Given the description of an element on the screen output the (x, y) to click on. 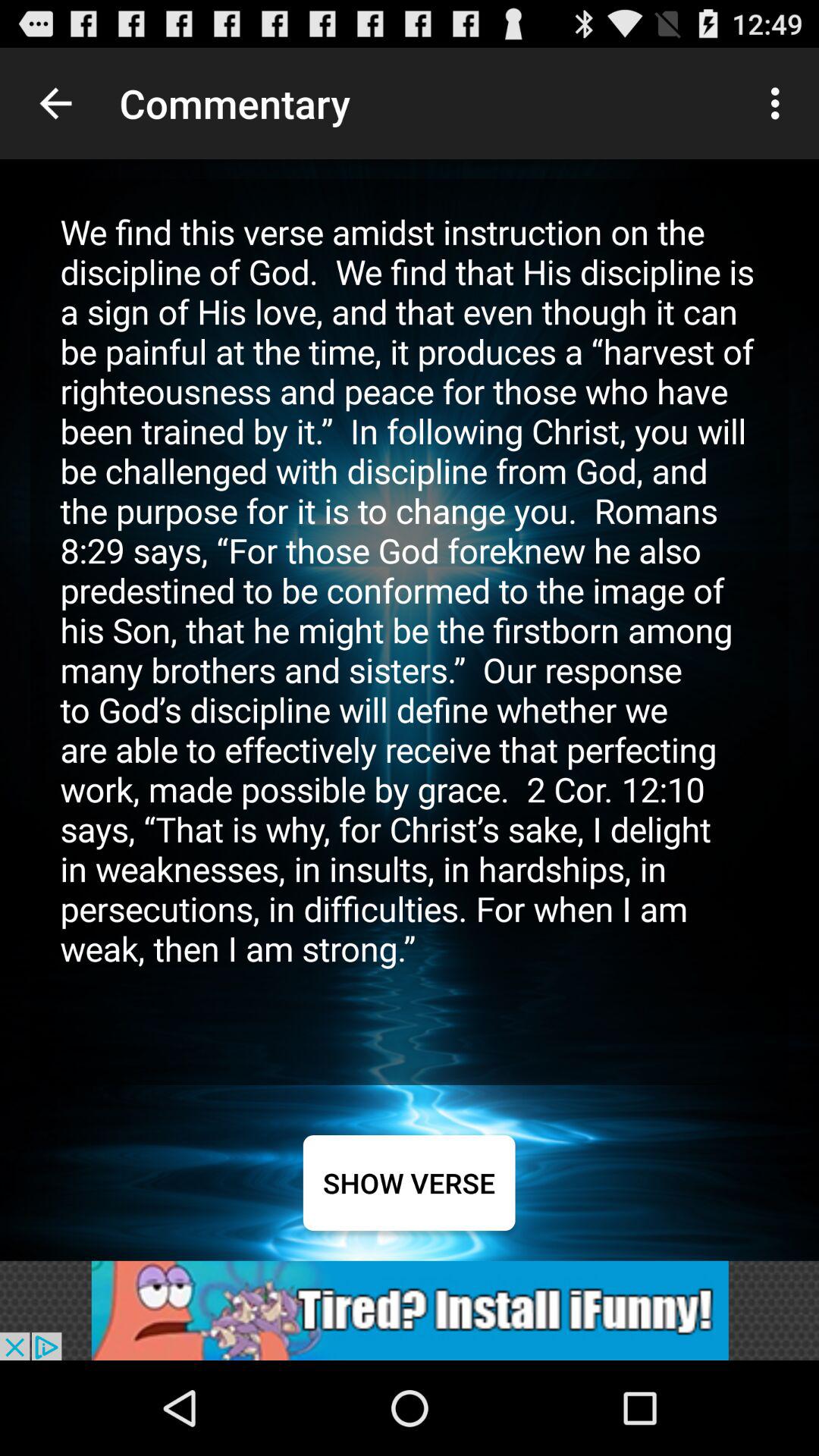
click to view funny advertisements options (409, 1310)
